Given the description of an element on the screen output the (x, y) to click on. 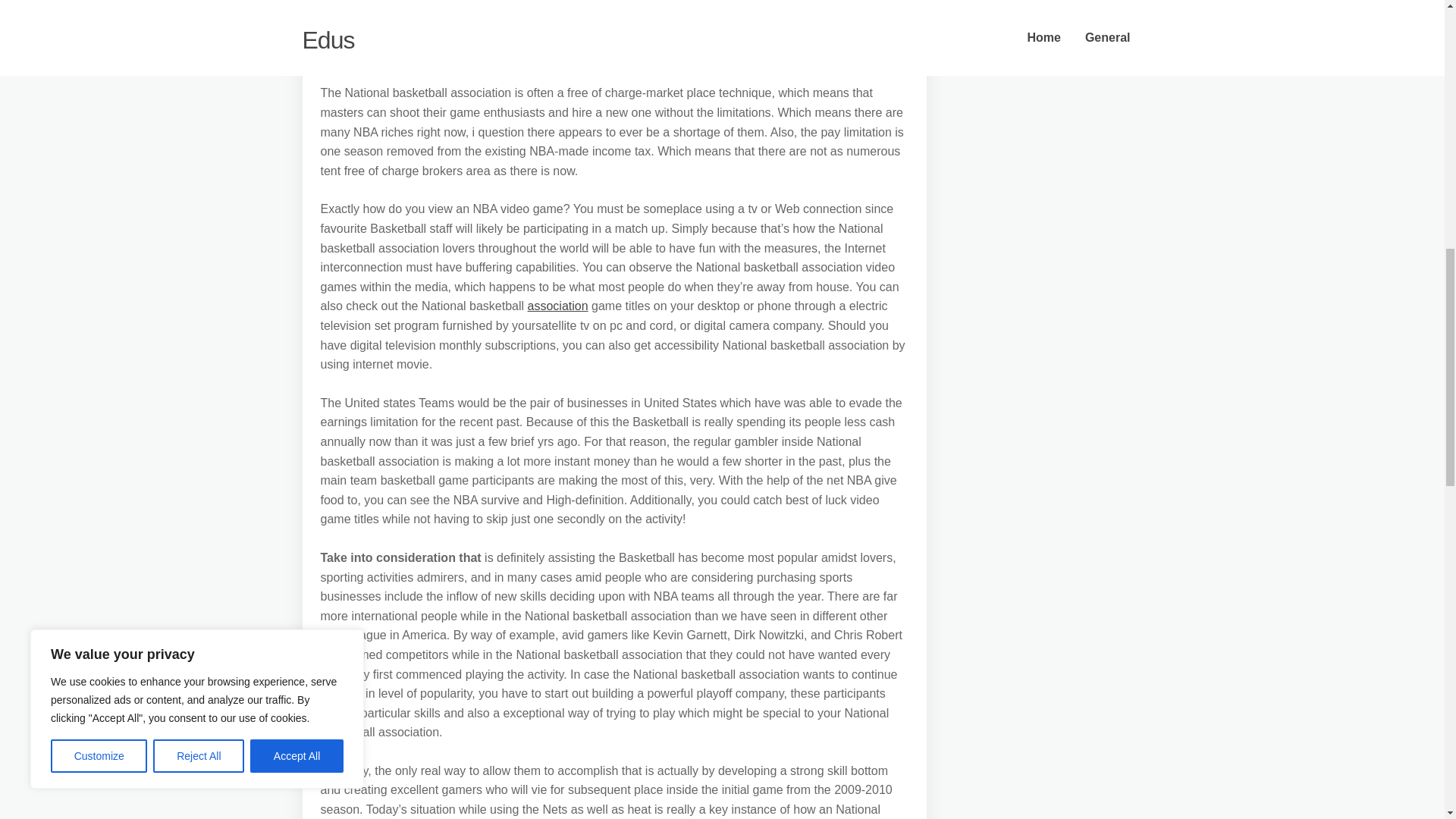
association (557, 305)
management meetings (494, 54)
